Given the description of an element on the screen output the (x, y) to click on. 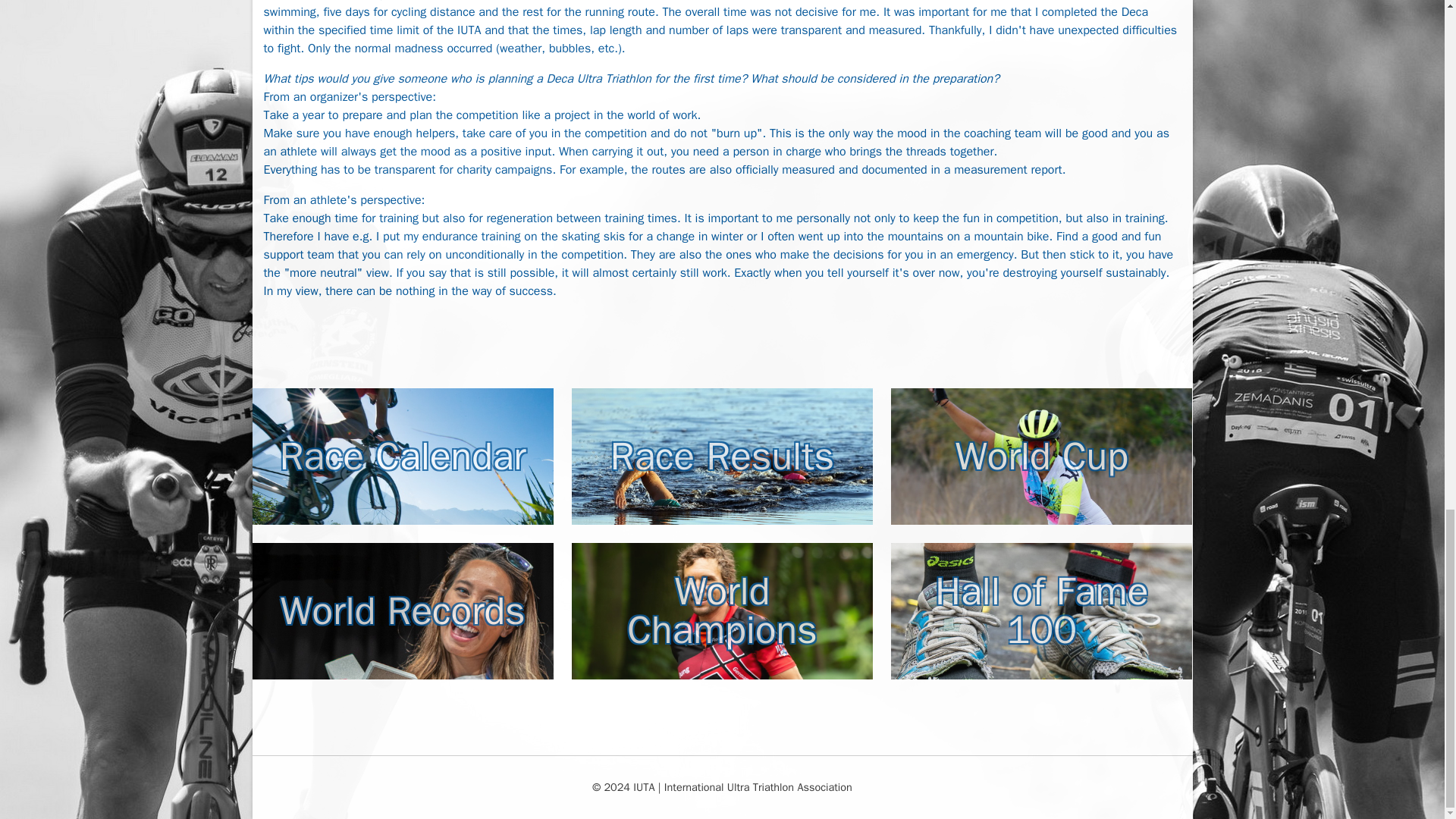
IUTA Ultra Triathlon World Cup (1041, 456)
IUTA Ultra Triathlon Race Results (722, 456)
IUTA Ultra Triathlon Race Calendar (402, 456)
Ultra Triathlon World Records (402, 610)
IUTA Hall of Fame 100 (1041, 610)
IUTA Ultra Triathlon World Champions (722, 610)
